Given the description of an element on the screen output the (x, y) to click on. 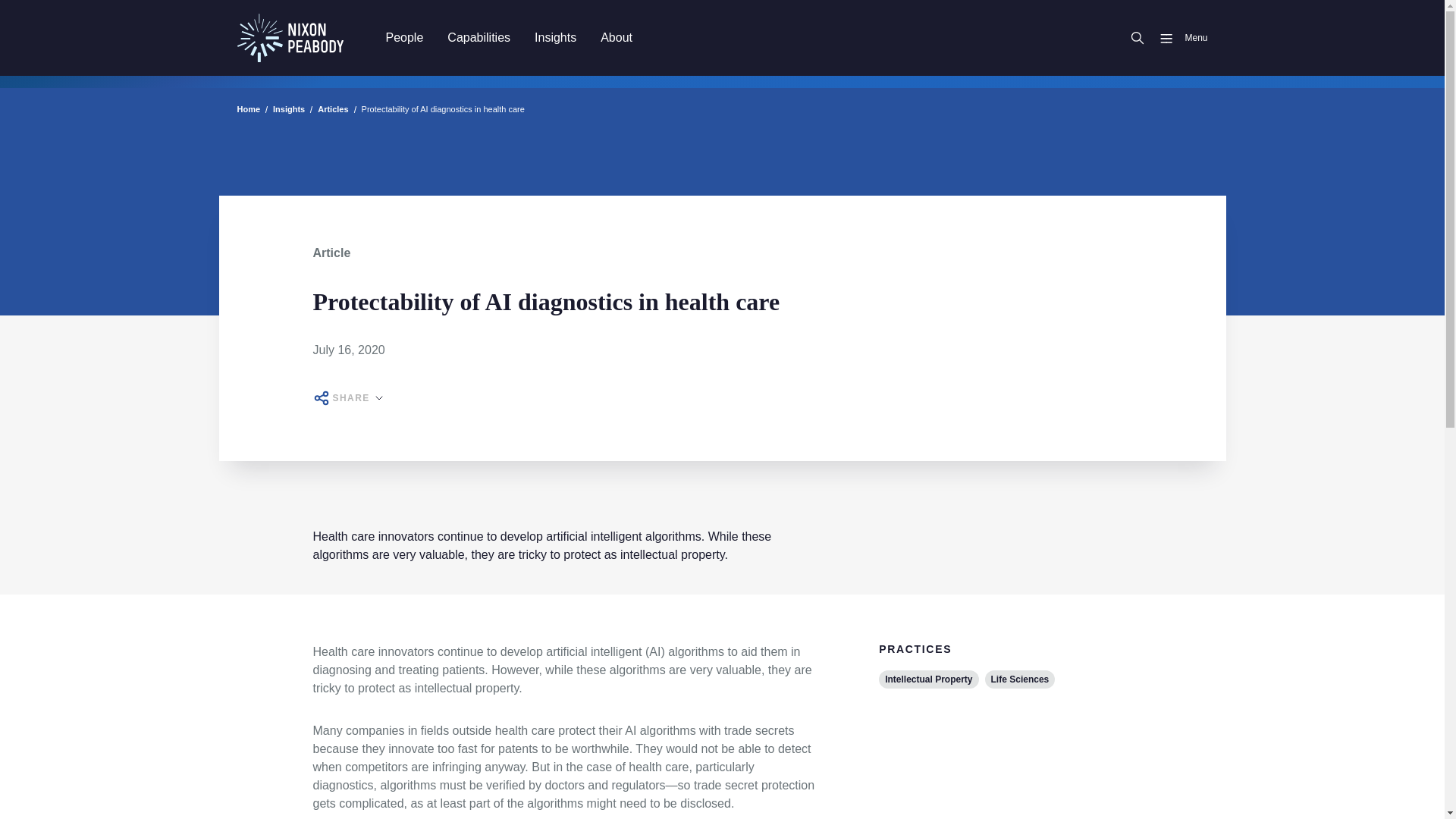
About (616, 37)
People (403, 37)
Capabilities (478, 37)
Insights (555, 37)
Menu (1177, 37)
